Given the description of an element on the screen output the (x, y) to click on. 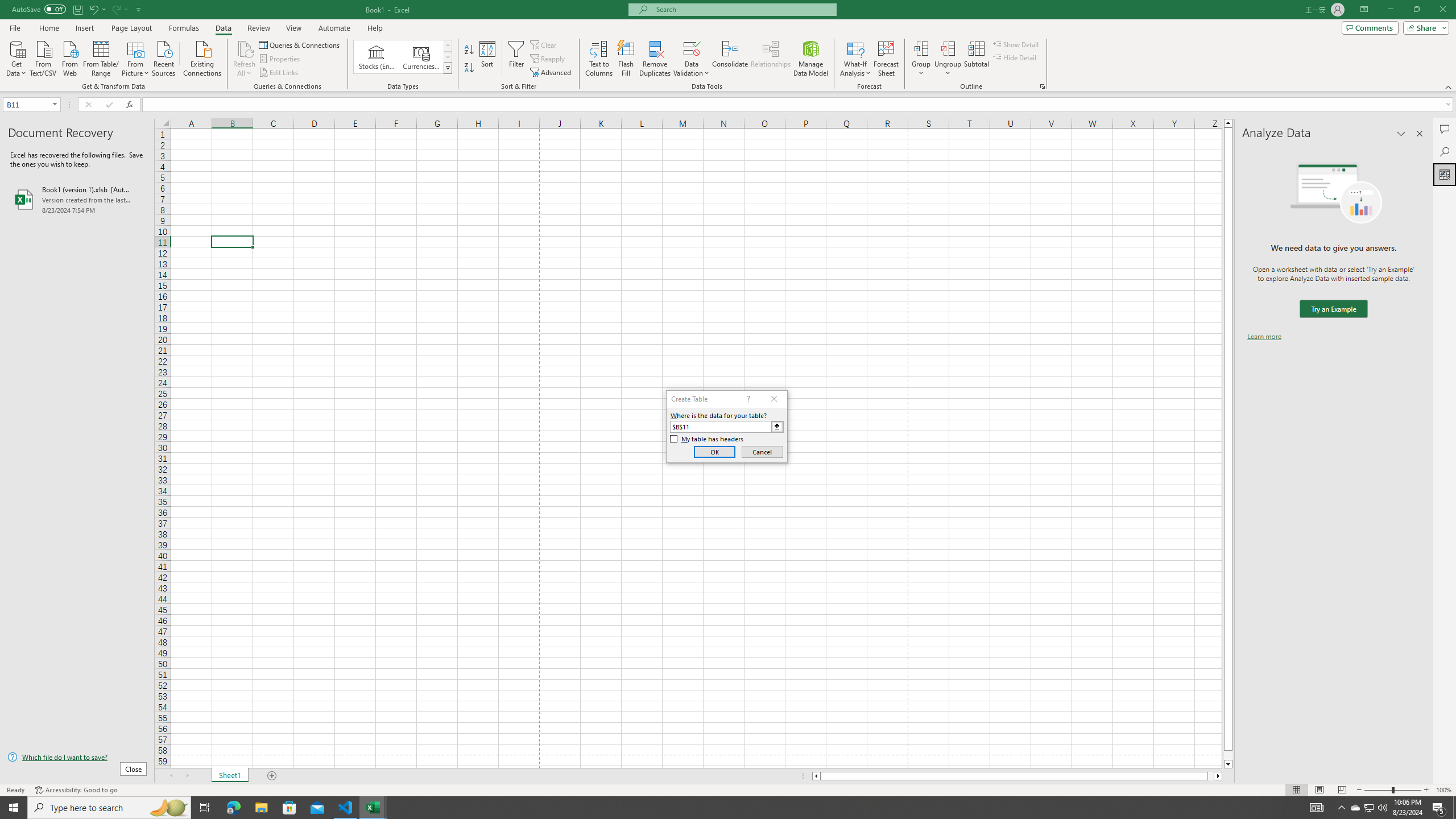
Sort A to Z (469, 49)
Formulas (184, 28)
Page right (1211, 775)
Existing Connections (202, 57)
Zoom In (1426, 790)
Data Validation... (691, 58)
Forecast Sheet (885, 58)
Book1 (version 1).xlsb  [AutoRecovered] (77, 199)
Recent Sources (163, 57)
Refresh All (244, 58)
Ungroup... (947, 58)
